Given the description of an element on the screen output the (x, y) to click on. 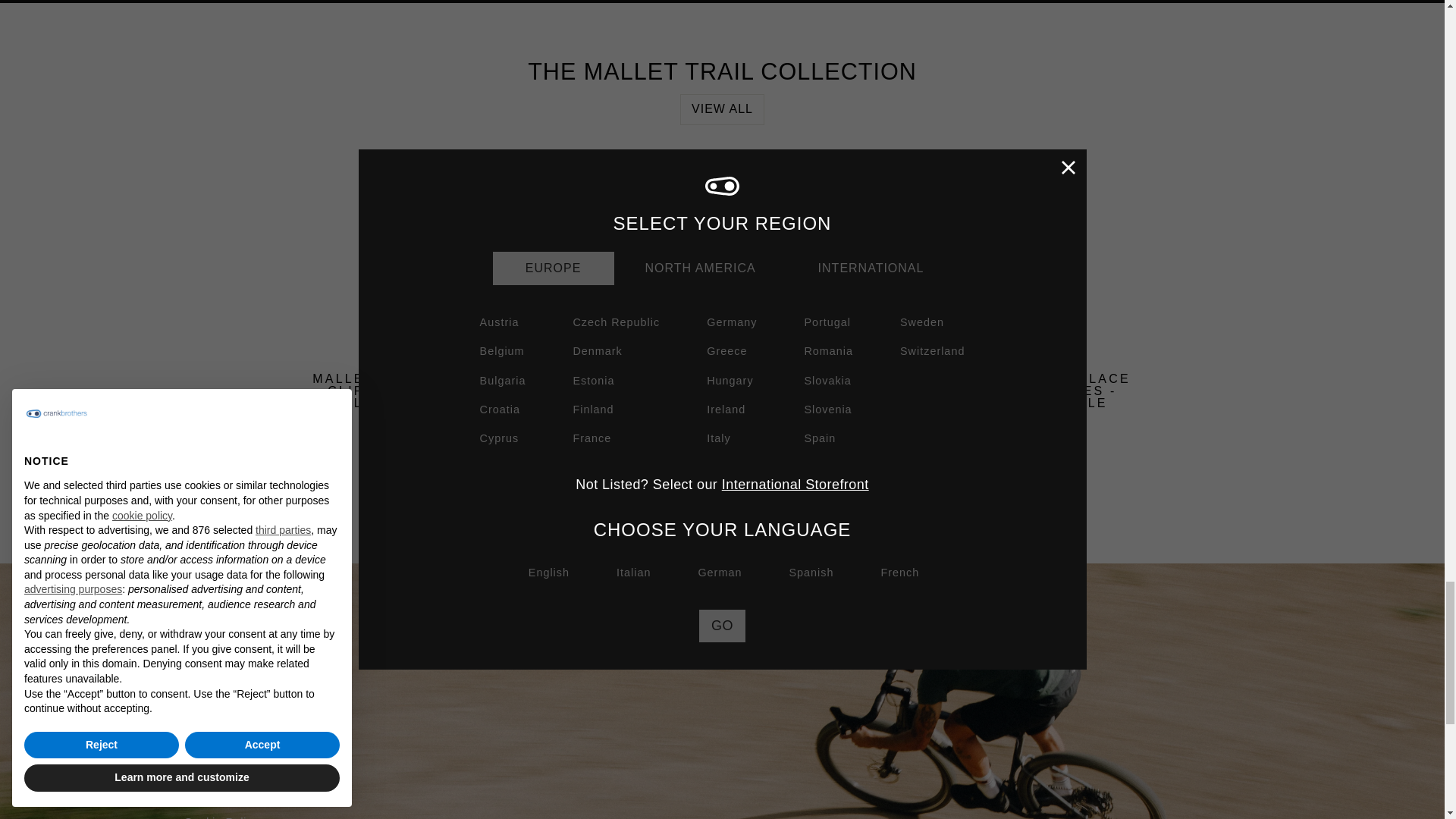
17 Reviews (1050, 467)
17 Reviews (612, 467)
17 Reviews (830, 467)
25 Reviews (393, 467)
